Given the description of an element on the screen output the (x, y) to click on. 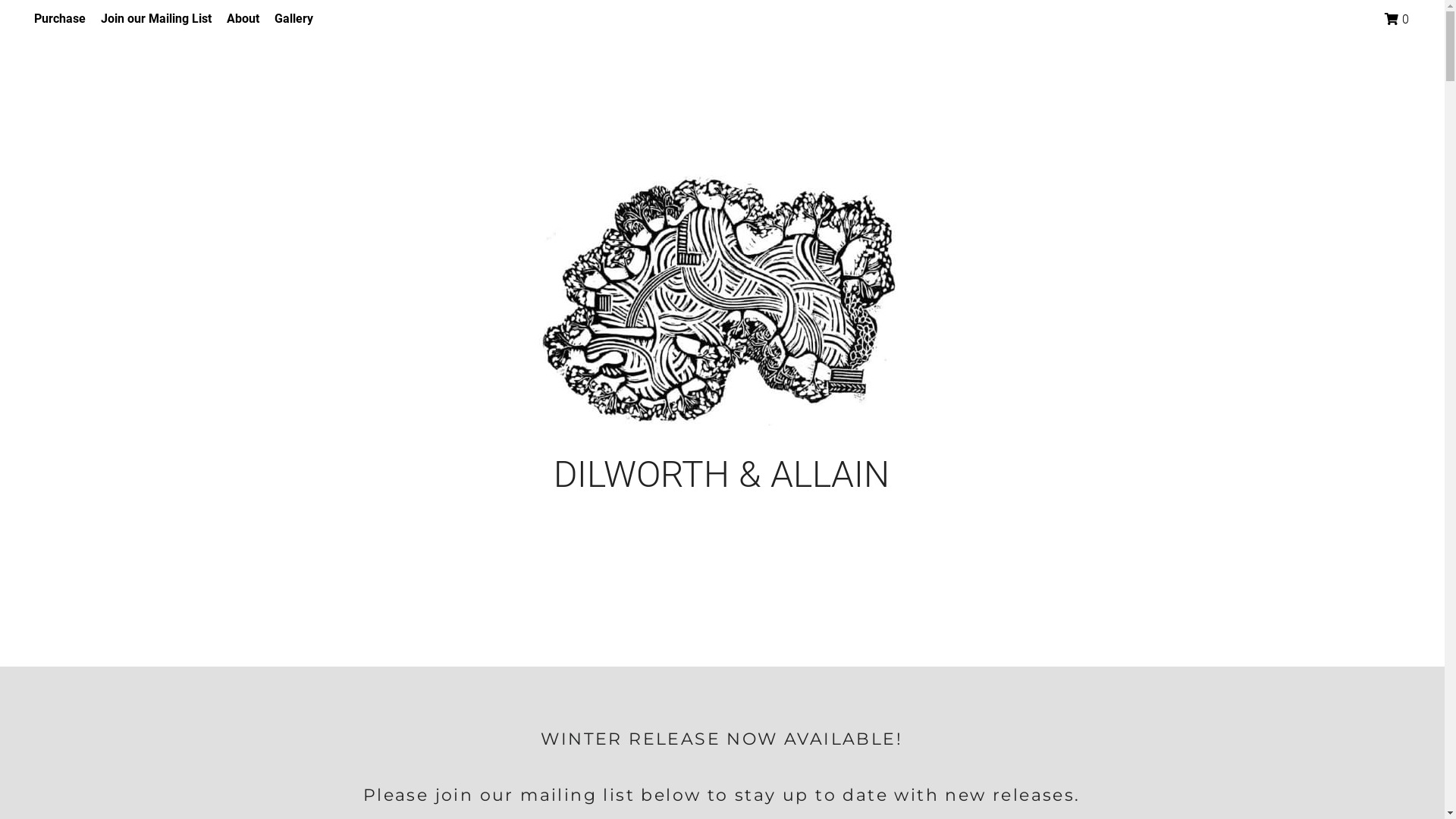
Join our Mailing List Element type: text (155, 18)
Purchase Element type: text (59, 18)
About Element type: text (242, 18)
Gallery Element type: text (293, 18)
